Given the description of an element on the screen output the (x, y) to click on. 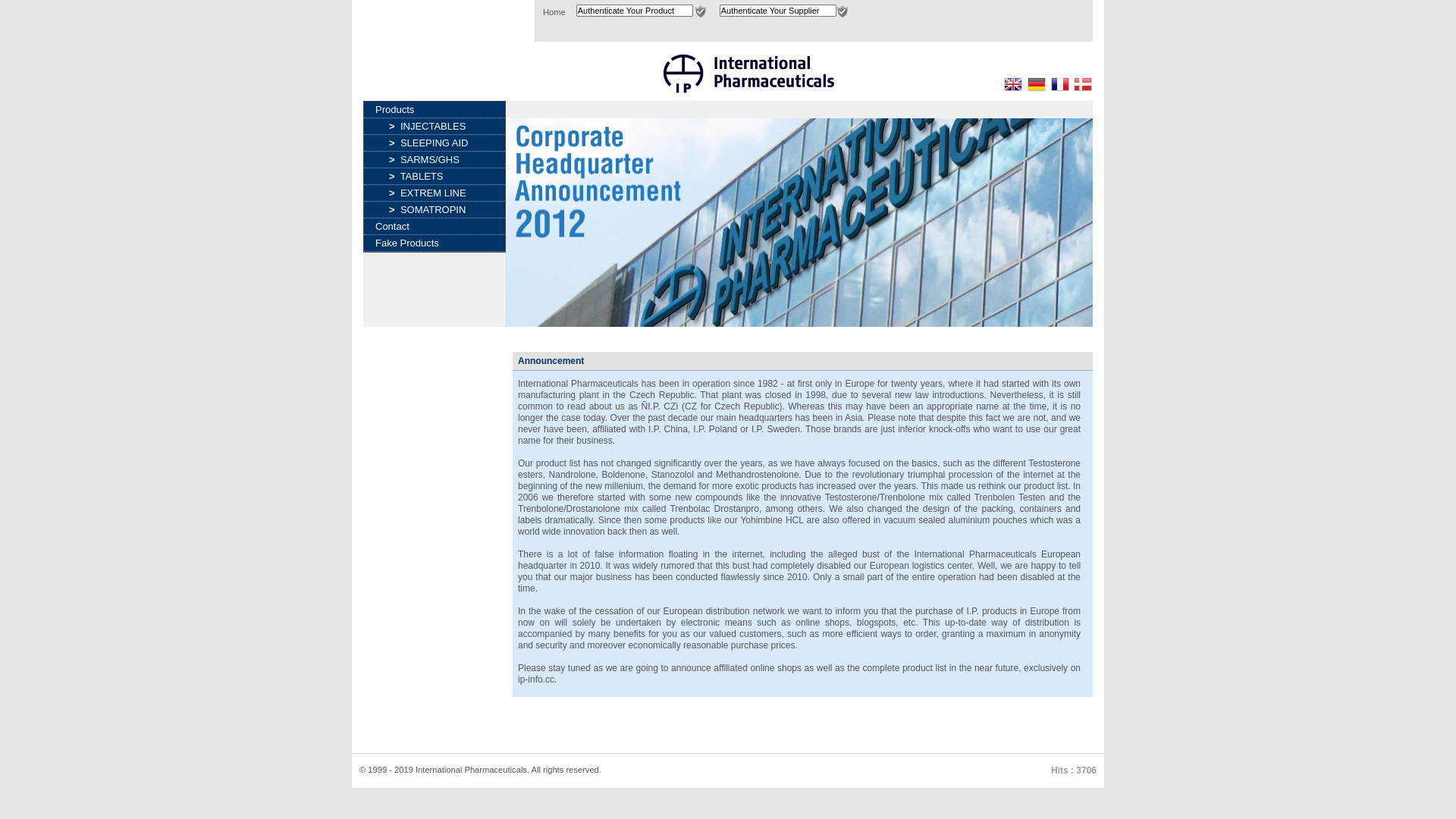
French Element type: hover (1060, 84)
Authenticate Your Supplier Element type: text (777, 10)
Products Element type: text (434, 109)
     >  SLEEPING AID Element type: text (434, 142)
     >  EXTREM LINE Element type: text (434, 192)
Fake Products Element type: text (434, 243)
German Element type: hover (1036, 84)
Danish Element type: hover (1082, 84)
     >  SARMS/GHS Element type: text (434, 159)
English Element type: hover (1013, 84)
Corporate Headquarter Announcement 2012 Element type: hover (798, 222)
Please Enter your Product Security Code Element type: hover (700, 11)
Contact Element type: text (434, 226)
Home Element type: text (553, 11)
Authenticate Your Product Element type: text (634, 10)
     >  TABLETS Element type: text (434, 176)
     >  SOMATROPIN Element type: text (434, 209)
     >  INJECTABLES Element type: text (434, 126)
